Given the description of an element on the screen output the (x, y) to click on. 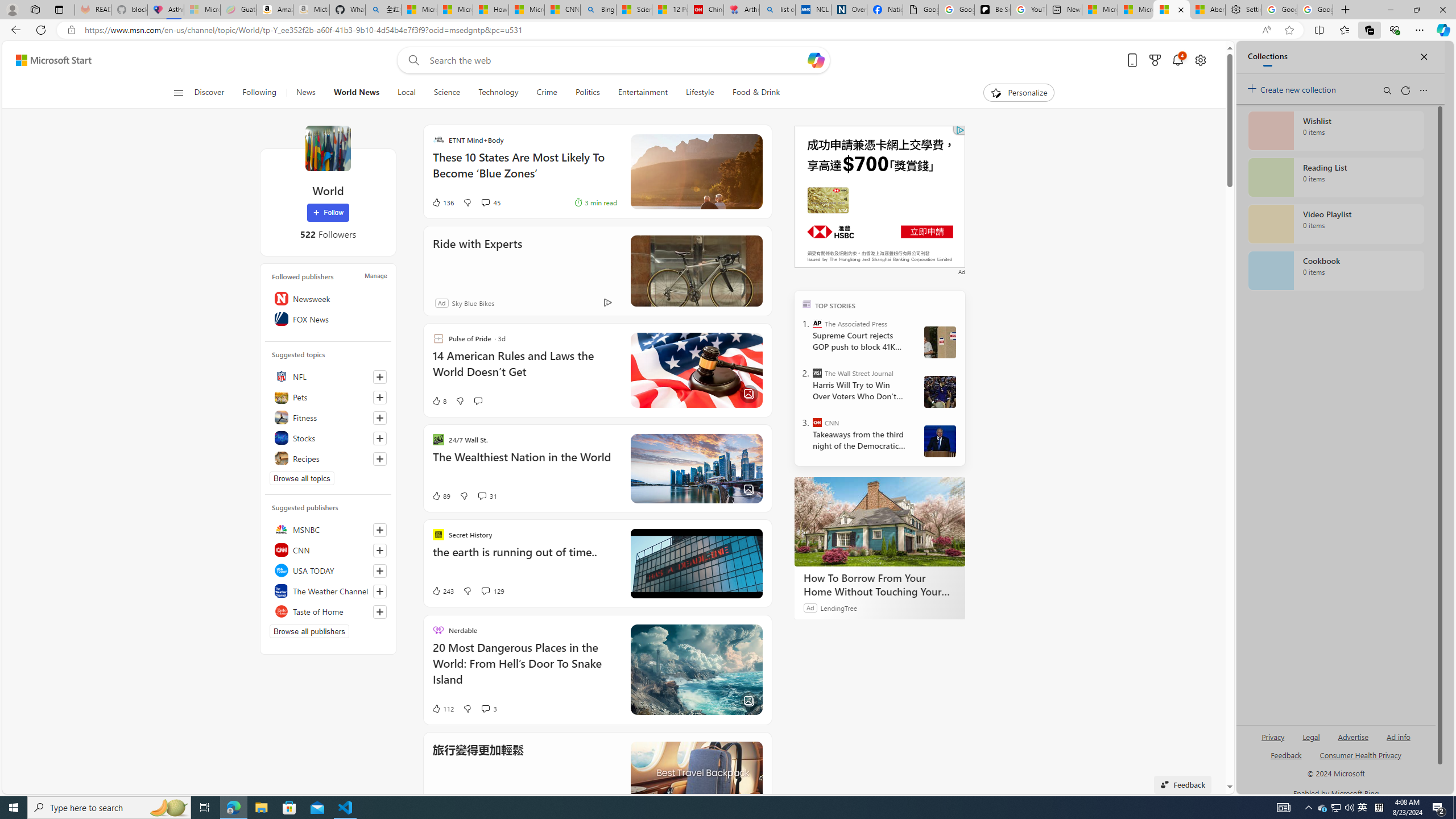
World (327, 148)
Follow this topic (379, 459)
Asthma Inhalers: Names and Types (165, 9)
Taste of Home (327, 610)
View comments 129 Comment (492, 590)
Class: qc-adchoices-icon (959, 130)
Newsweek (327, 298)
